Given the description of an element on the screen output the (x, y) to click on. 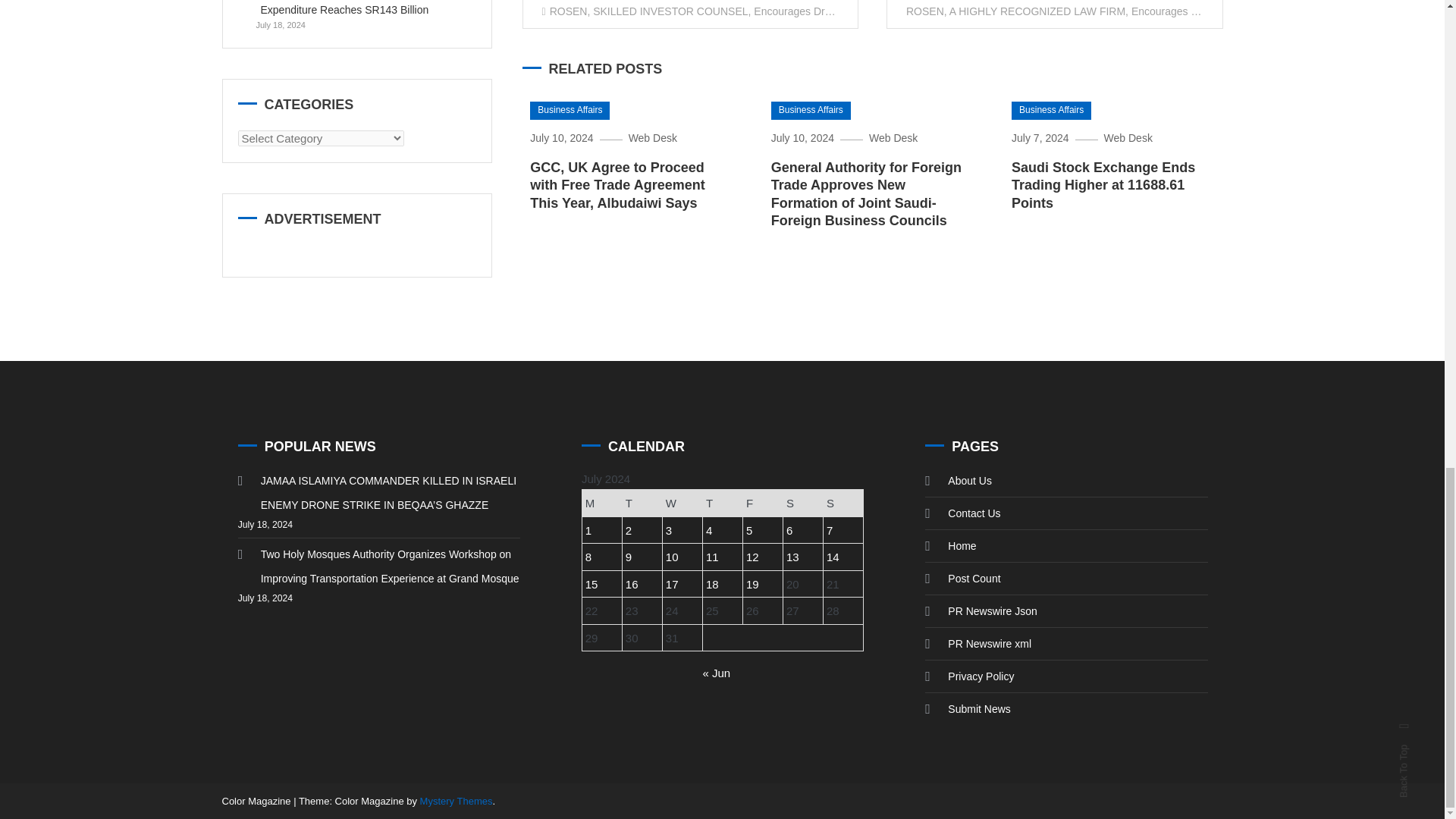
Saturday (803, 502)
Friday (762, 502)
Wednesday (682, 502)
Monday (602, 502)
Sunday (843, 502)
Thursday (722, 502)
Tuesday (642, 502)
